Given the description of an element on the screen output the (x, y) to click on. 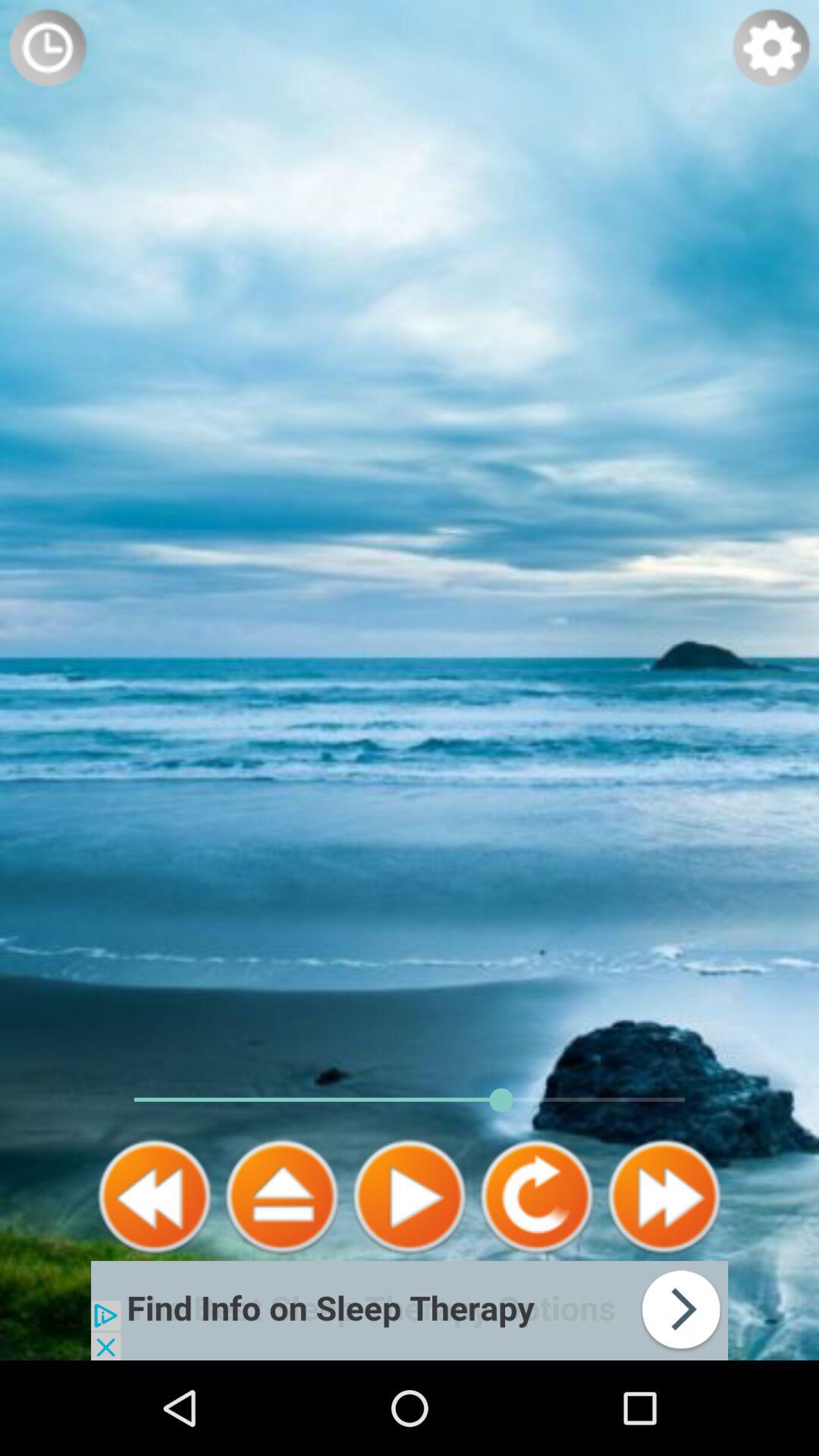
upload item (281, 1196)
